Given the description of an element on the screen output the (x, y) to click on. 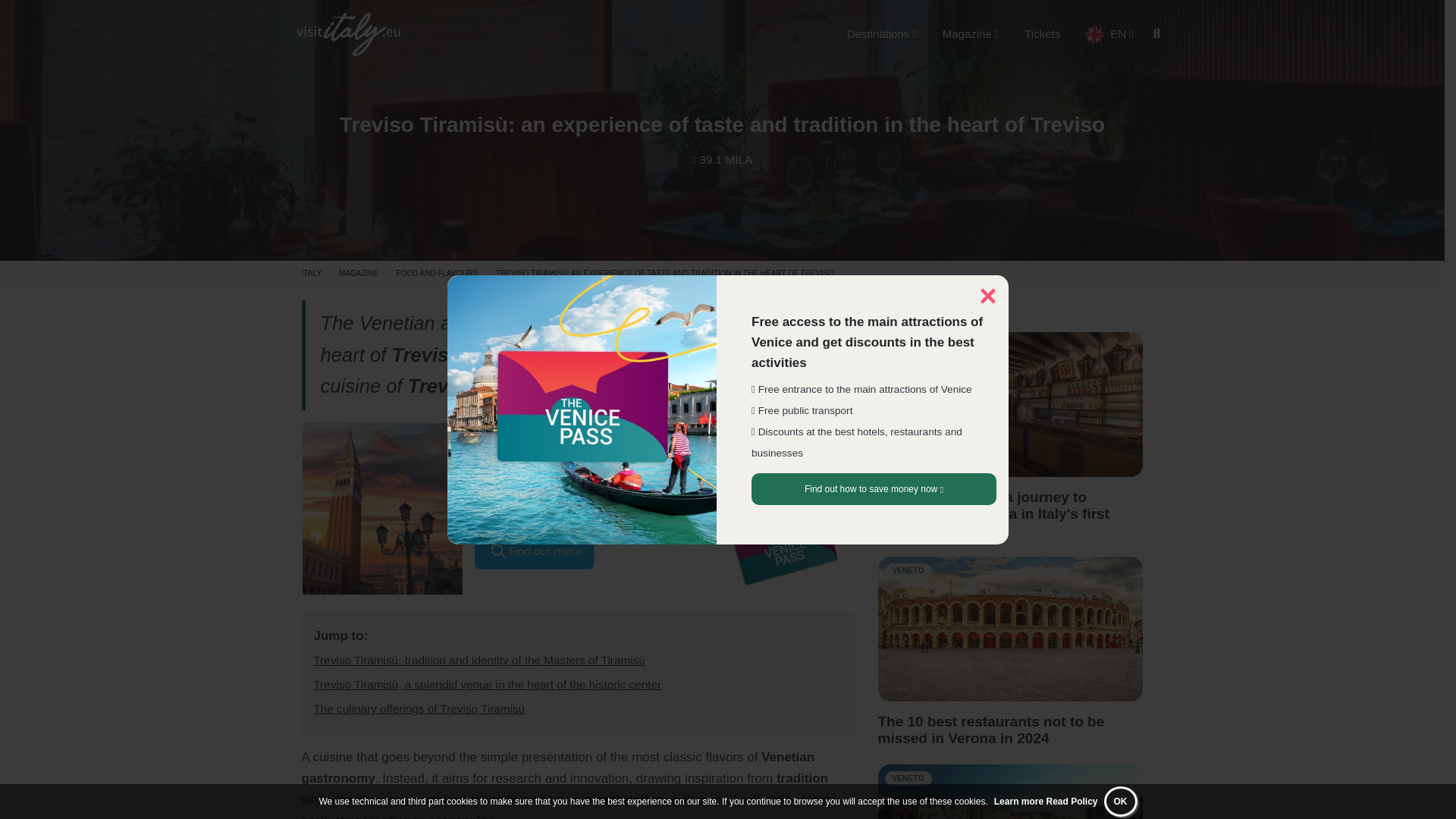
Magazine (970, 33)
Find out how to save money now (873, 489)
The best restaurants in Verona (1009, 628)
Destinations (881, 33)
Magazine (358, 273)
